Given the description of an element on the screen output the (x, y) to click on. 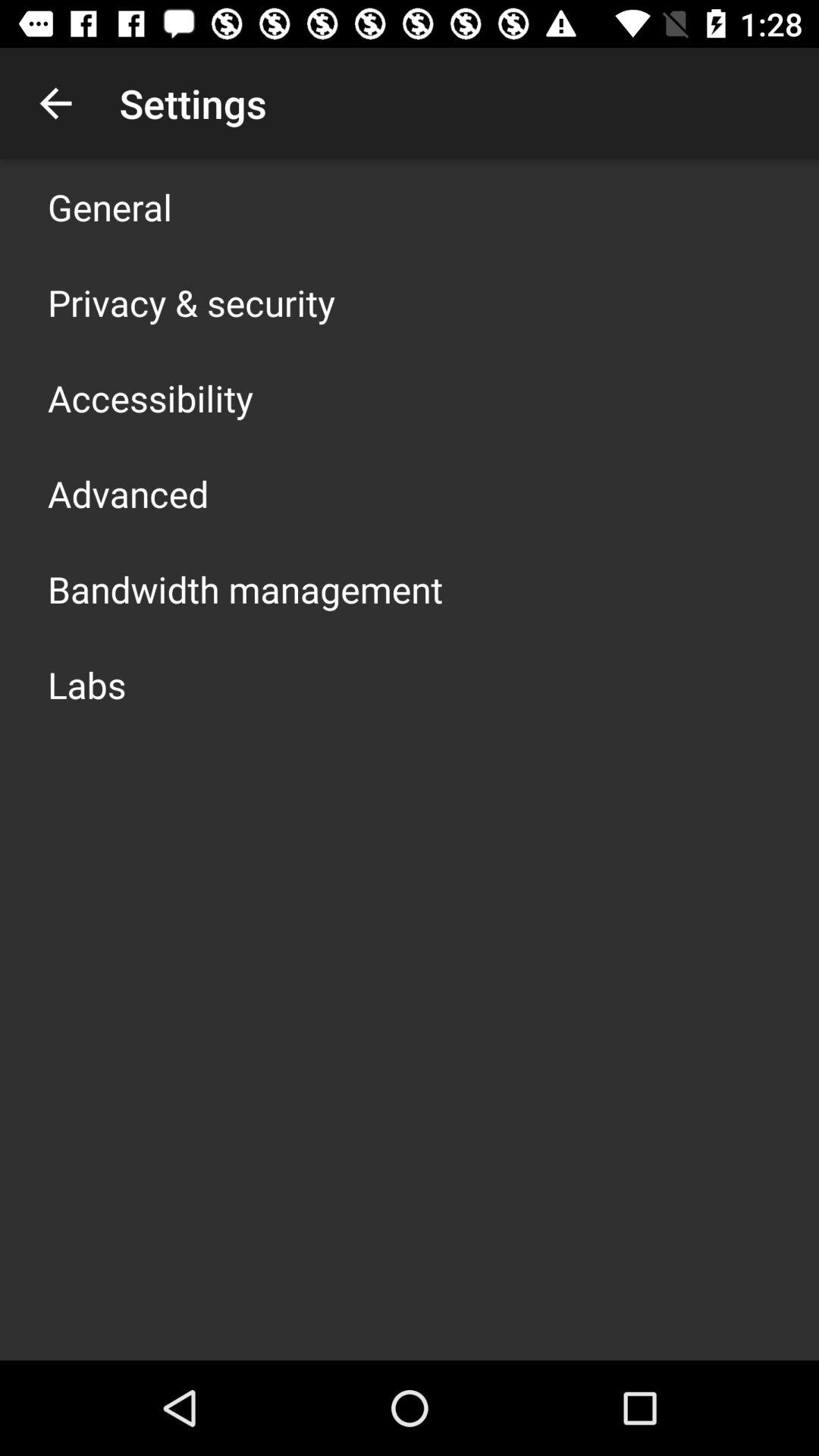
launch icon next to the settings icon (55, 103)
